Given the description of an element on the screen output the (x, y) to click on. 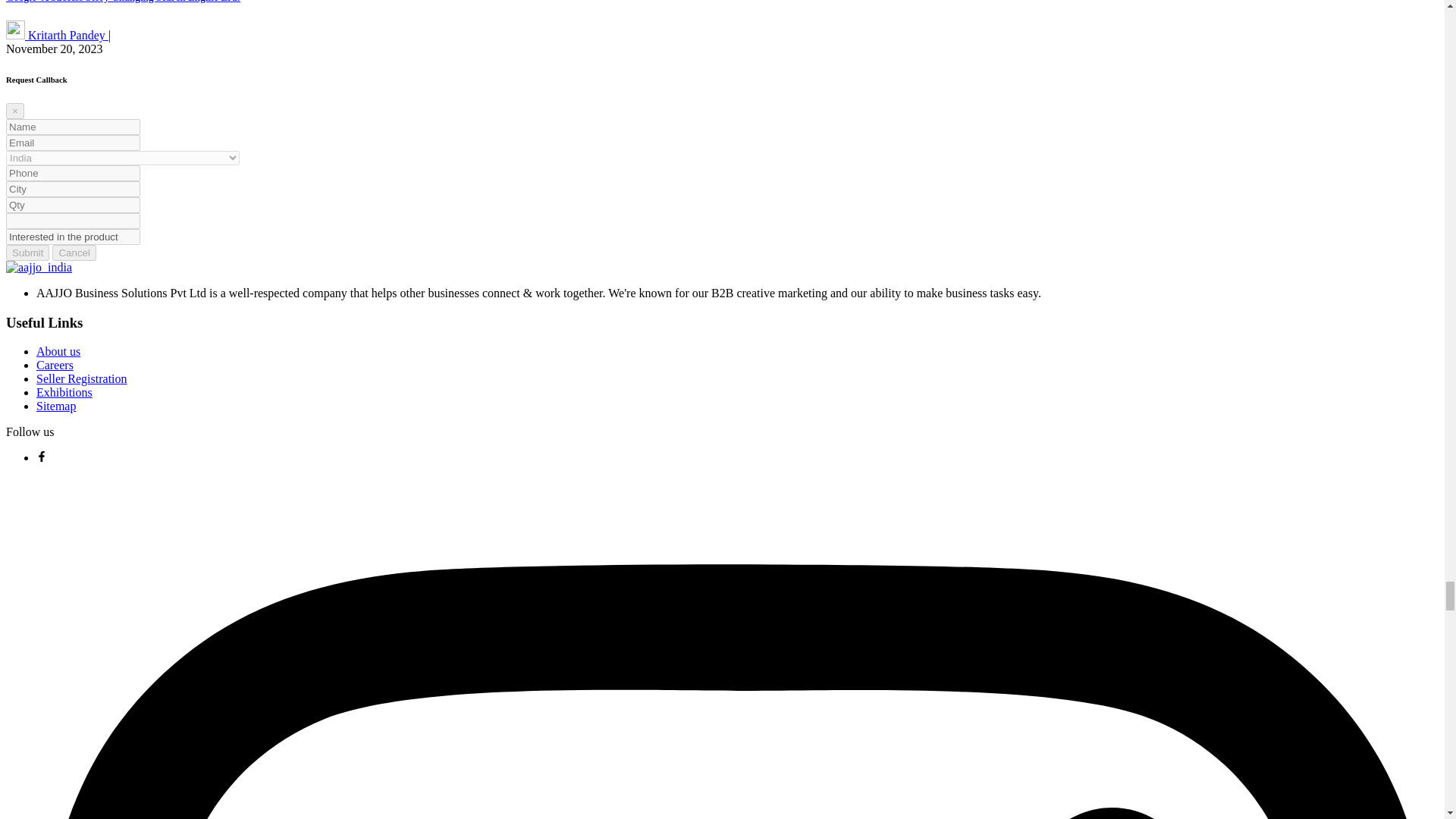
Exhibitions (64, 391)
Sitemap (55, 405)
Careers (55, 364)
Submit (27, 252)
Home (38, 267)
Seller Registration (82, 378)
About us (58, 350)
Interested in the product (72, 236)
Cancel (74, 252)
